Given the description of an element on the screen output the (x, y) to click on. 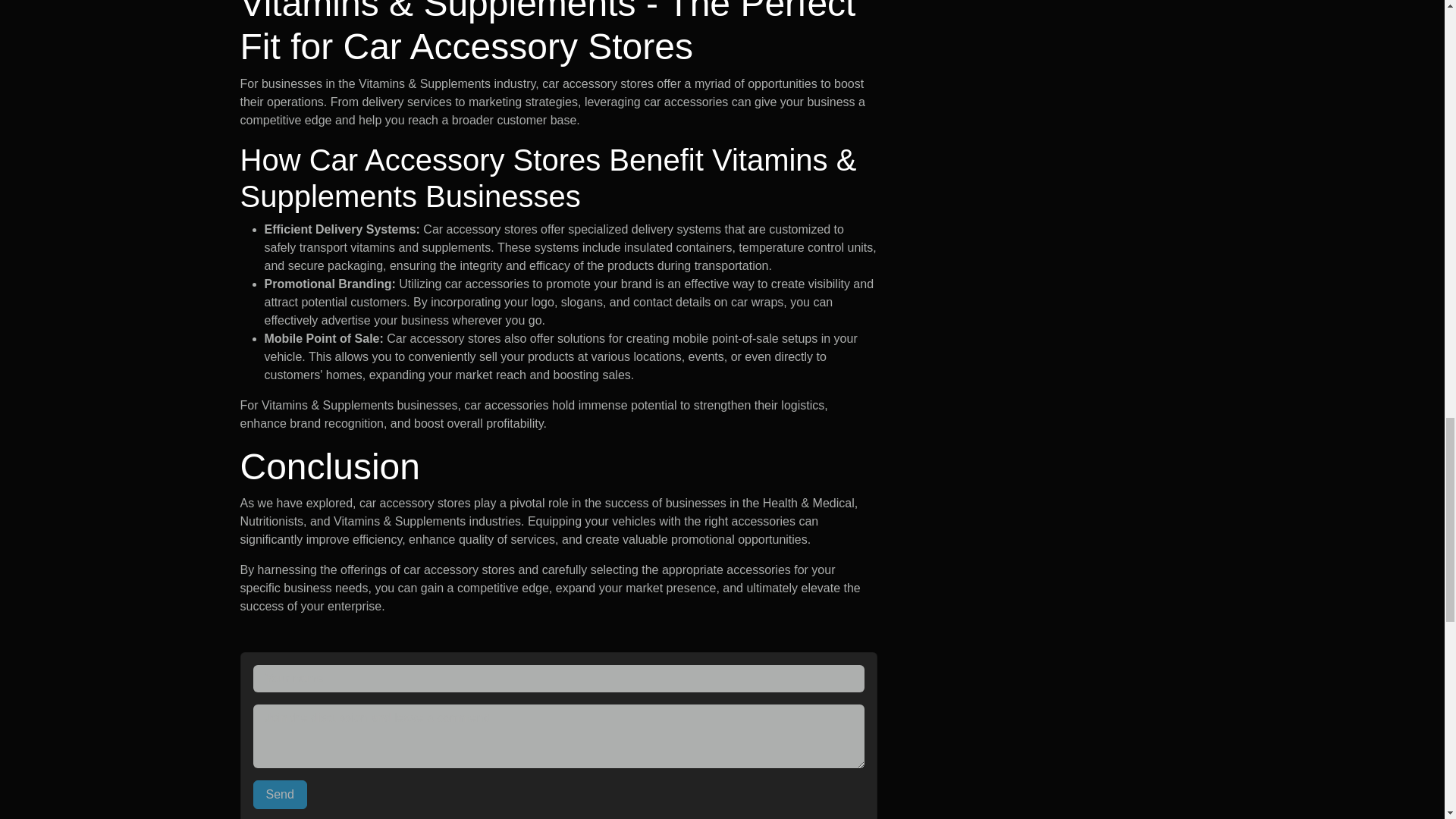
Send (280, 794)
Send (280, 794)
